Given the description of an element on the screen output the (x, y) to click on. 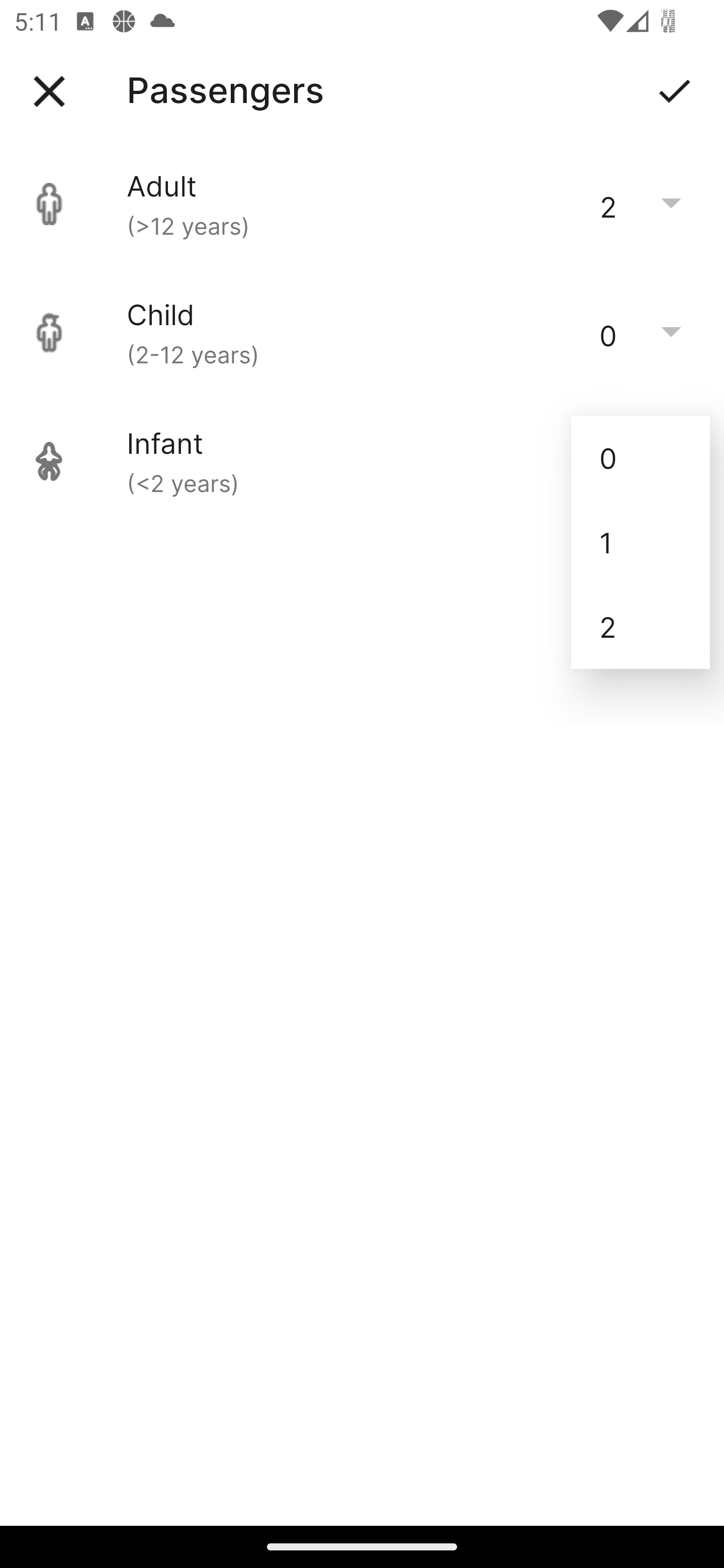
0 (640, 457)
1 (640, 542)
2 (640, 626)
